Given the description of an element on the screen output the (x, y) to click on. 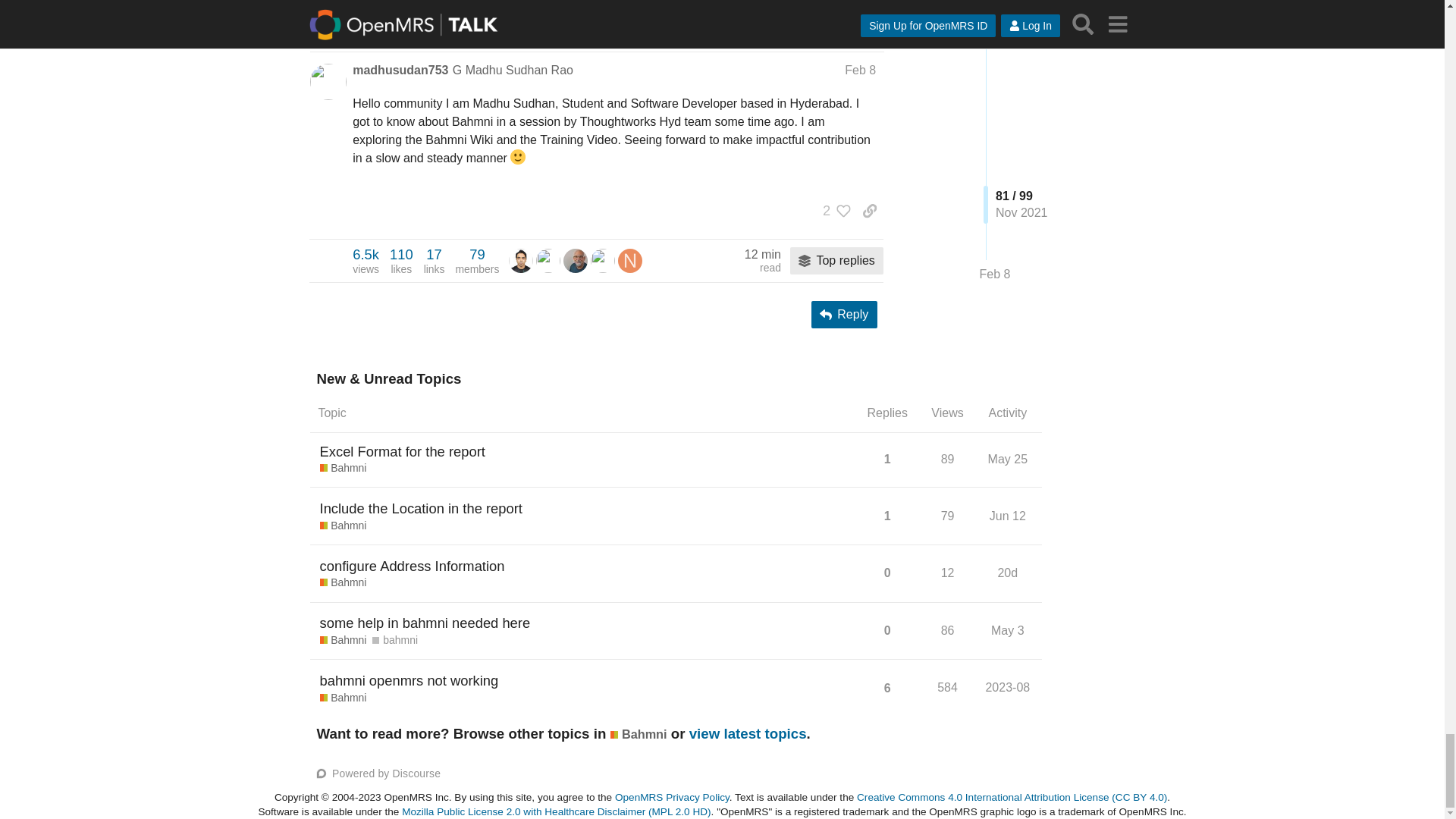
Top replies (836, 260)
Angshuman Sarkar (520, 260)
neelneem (629, 259)
DJAPA FRANCK (602, 260)
jalbers (575, 259)
darius (547, 259)
Neelam Singh (476, 260)
djapa (629, 260)
angshuonline (366, 260)
Darius Jazayeri (602, 259)
Jim Albers (520, 259)
